Given the description of an element on the screen output the (x, y) to click on. 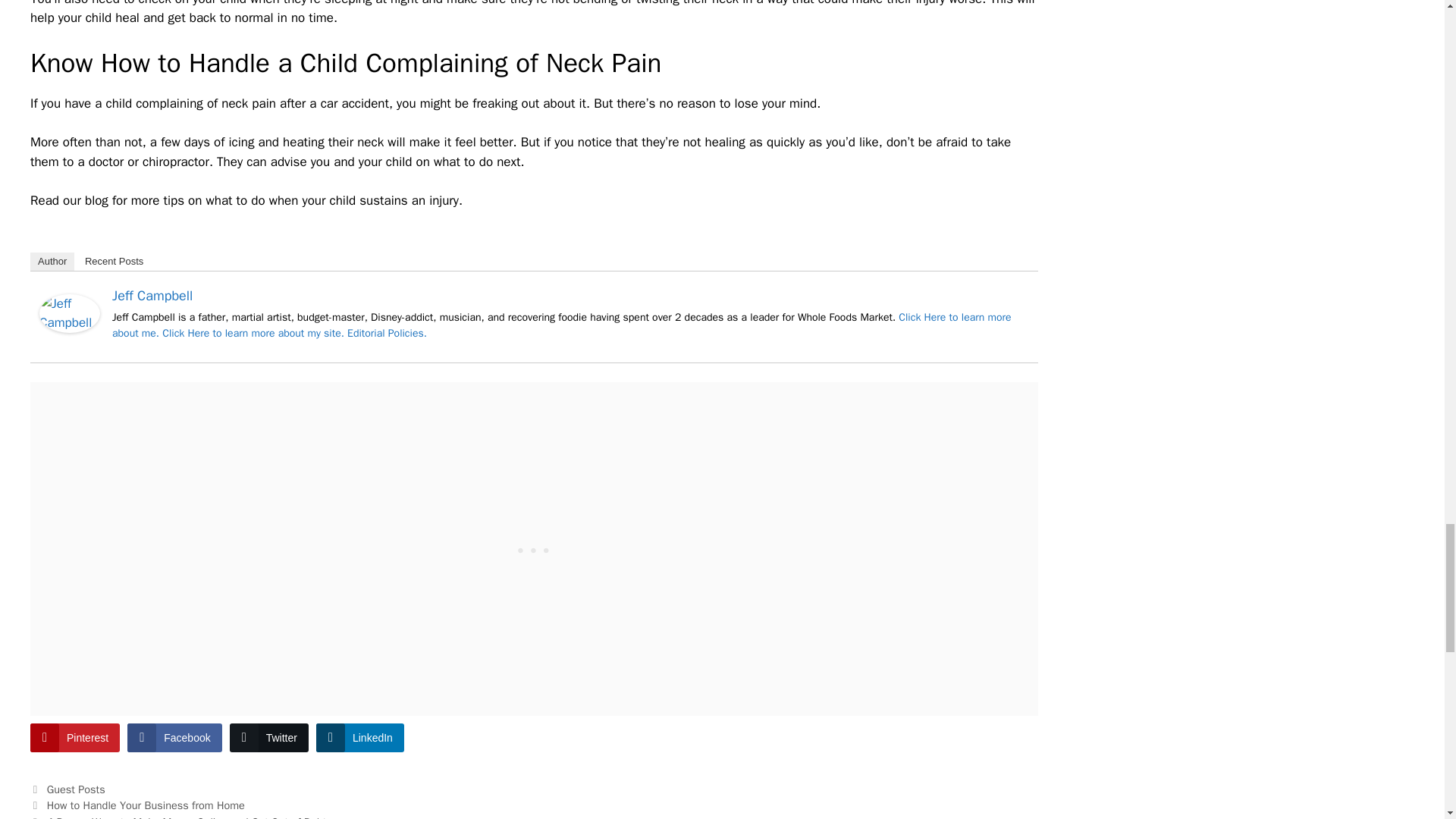
Jeff Campbell (69, 328)
